Given the description of an element on the screen output the (x, y) to click on. 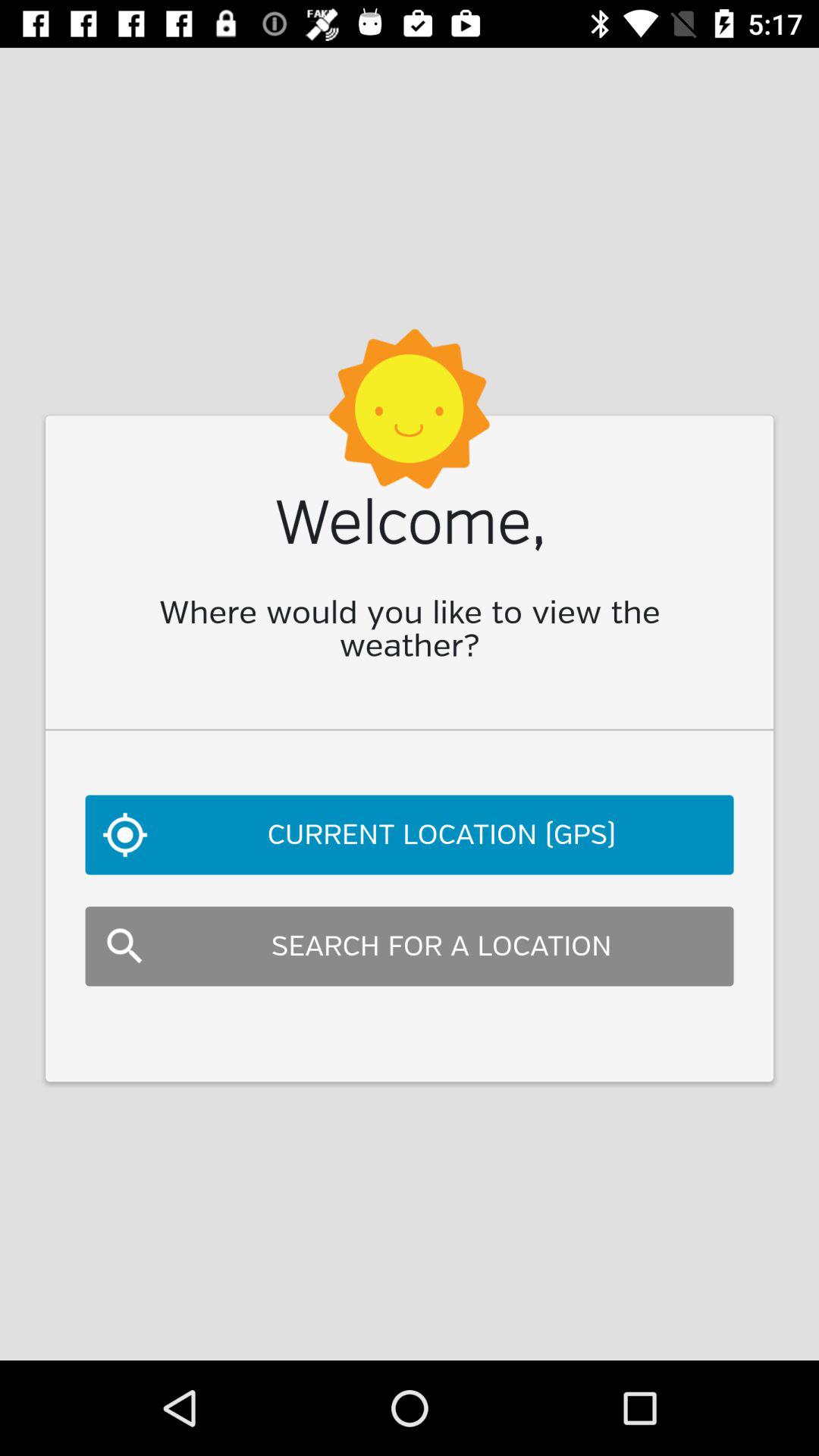
launch item below the current location (gps) (409, 946)
